Given the description of an element on the screen output the (x, y) to click on. 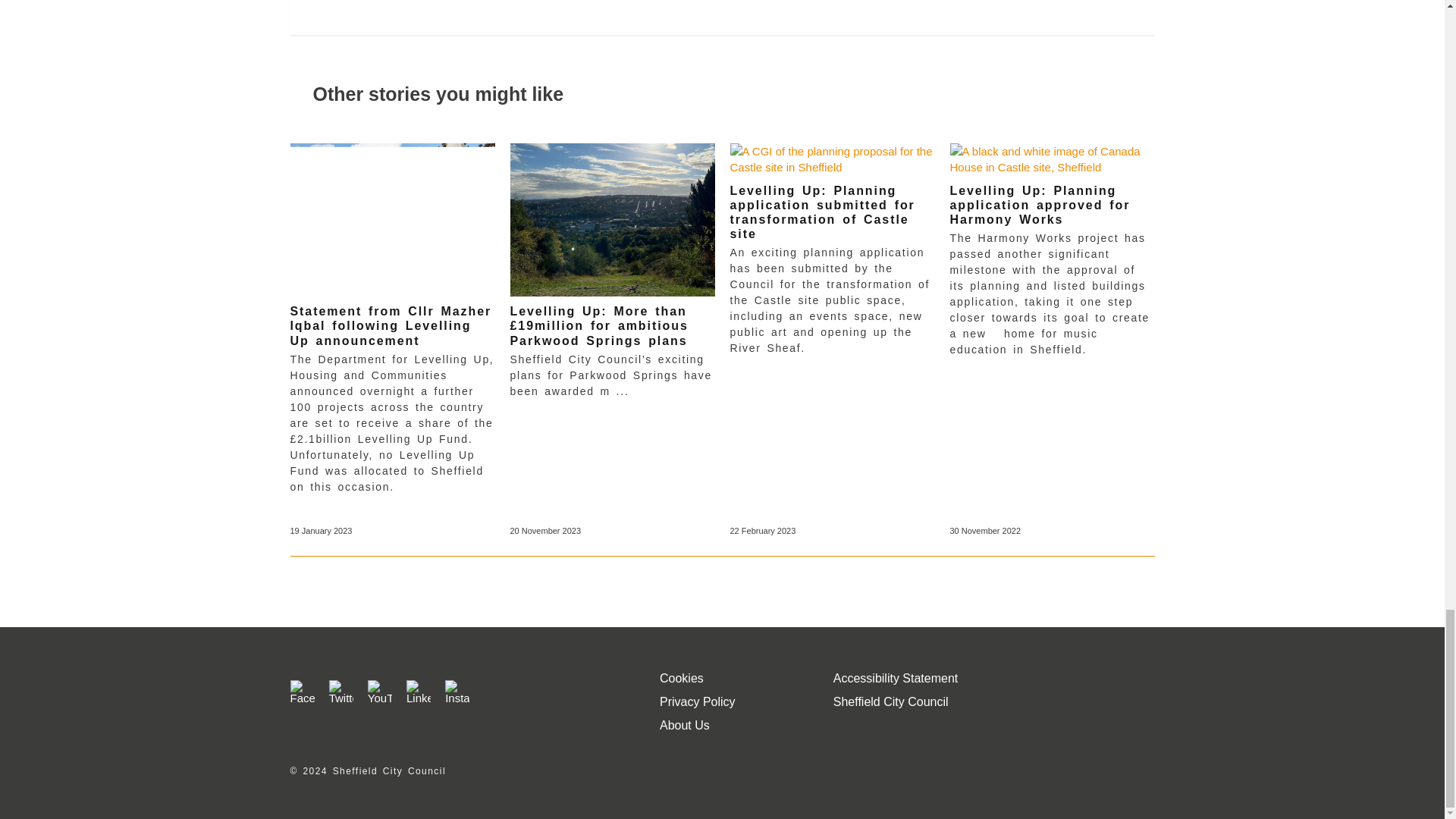
About Us (684, 725)
Sheffield City Council (890, 701)
Privacy Policy (697, 701)
Accessibility Statement (895, 677)
Cookies (681, 677)
